Given the description of an element on the screen output the (x, y) to click on. 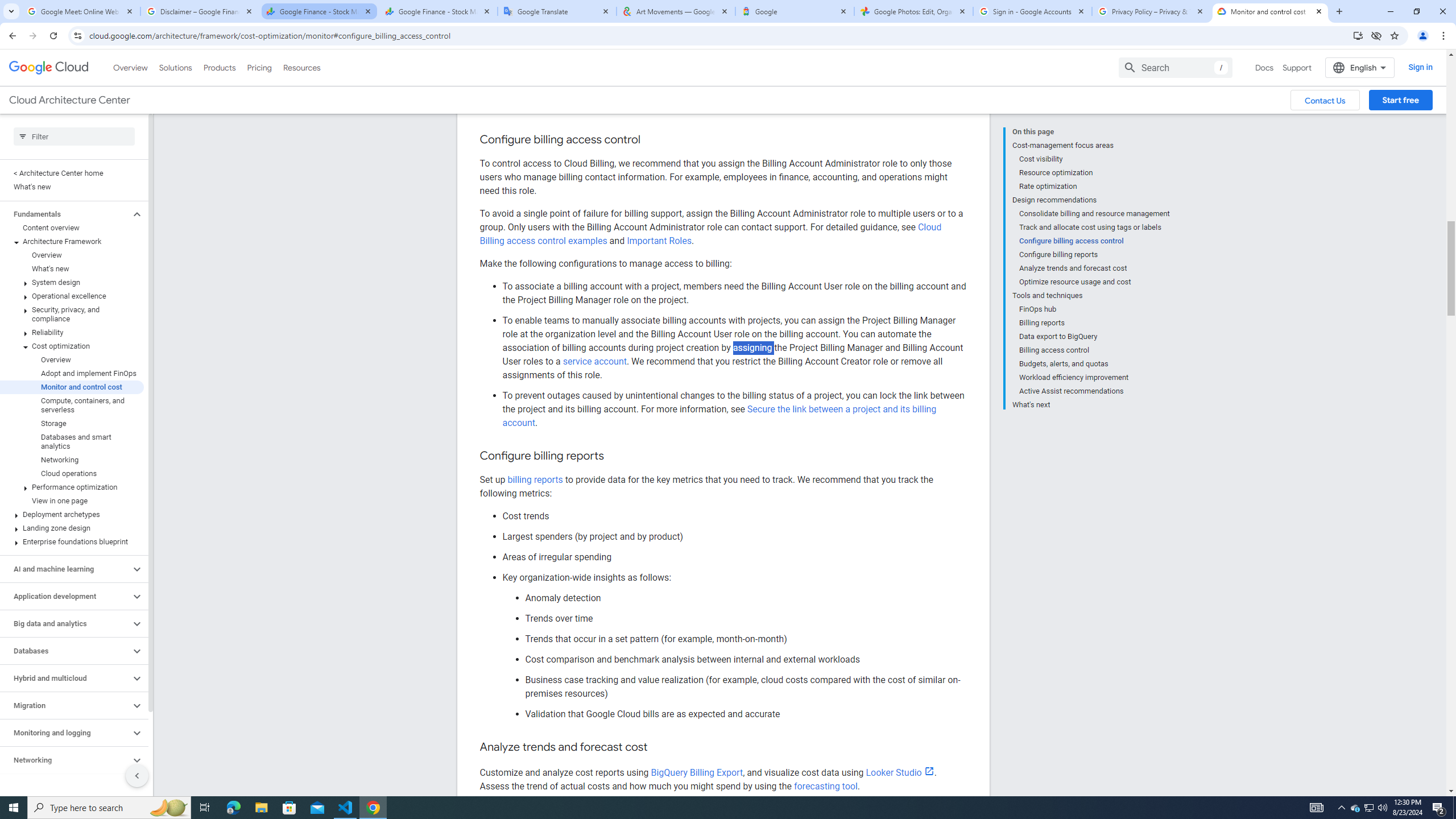
Enterprise foundations blueprint (72, 492)
Install Google Cloud (1358, 35)
Type to filter (74, 86)
billing reports (534, 479)
System design (72, 232)
BigQuery Billing Export (697, 772)
Data export to BigQuery (1094, 287)
Sign in - Google Accounts (1032, 11)
Billing reports (1094, 273)
Secure the link between a project and its billing account (719, 415)
Important Roles (658, 190)
